Given the description of an element on the screen output the (x, y) to click on. 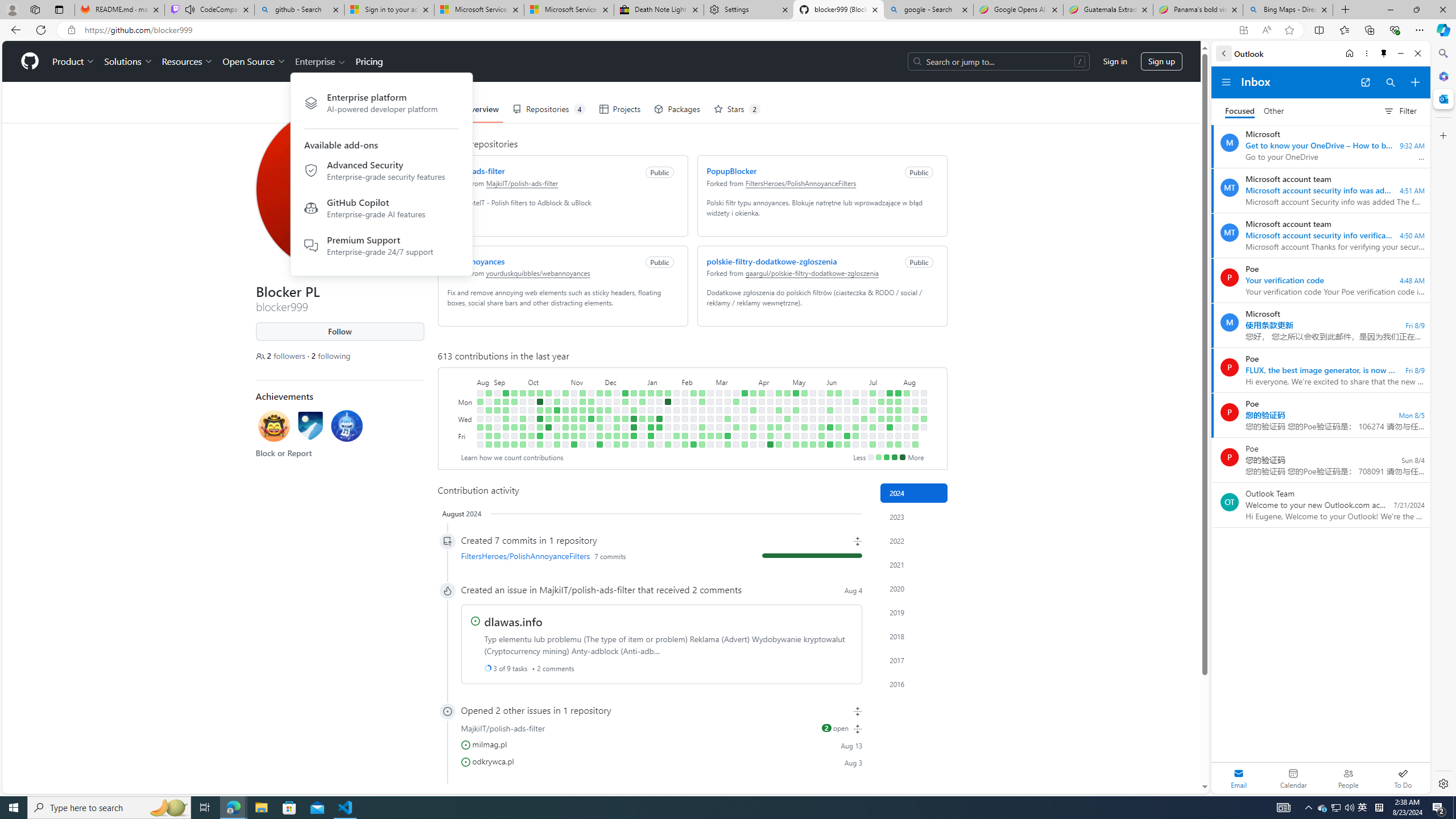
No contributions on April 3rd. (753, 418)
1 contribution on November 26th. (598, 392)
3 contributions on March 30th. (744, 444)
No contributions on January 19th. (658, 435)
1 contribution on October 12th. (539, 427)
2 contributions on June 4th. (829, 410)
No contributions on June 5th. (829, 418)
No contributions on March 19th. (735, 410)
No contributions on October 5th. (530, 427)
No contributions on August 28th. (488, 401)
No contributions on June 20th. (846, 427)
January (663, 380)
Browser essentials (1394, 29)
No contributions on January 6th. (642, 444)
